Given the description of an element on the screen output the (x, y) to click on. 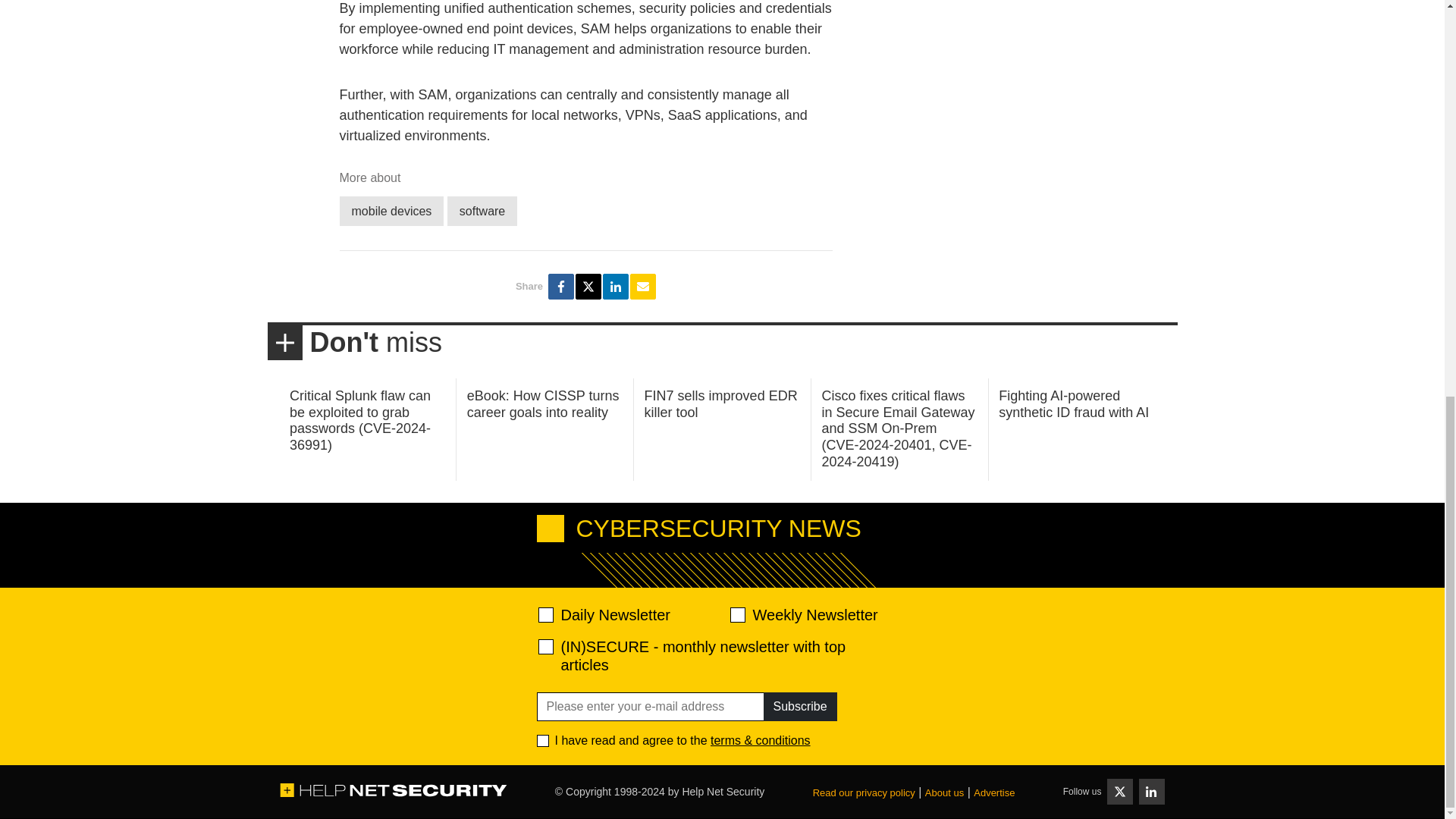
28abe5d9ef (545, 646)
software (481, 211)
1 (542, 740)
d2d471aafa (736, 614)
software (481, 211)
FIN7 sells improved EDR killer tool (721, 404)
520ac2f639 (545, 614)
mobile devices (391, 211)
mobile devices (391, 211)
eBook: How CISSP turns career goals into reality (543, 404)
